Given the description of an element on the screen output the (x, y) to click on. 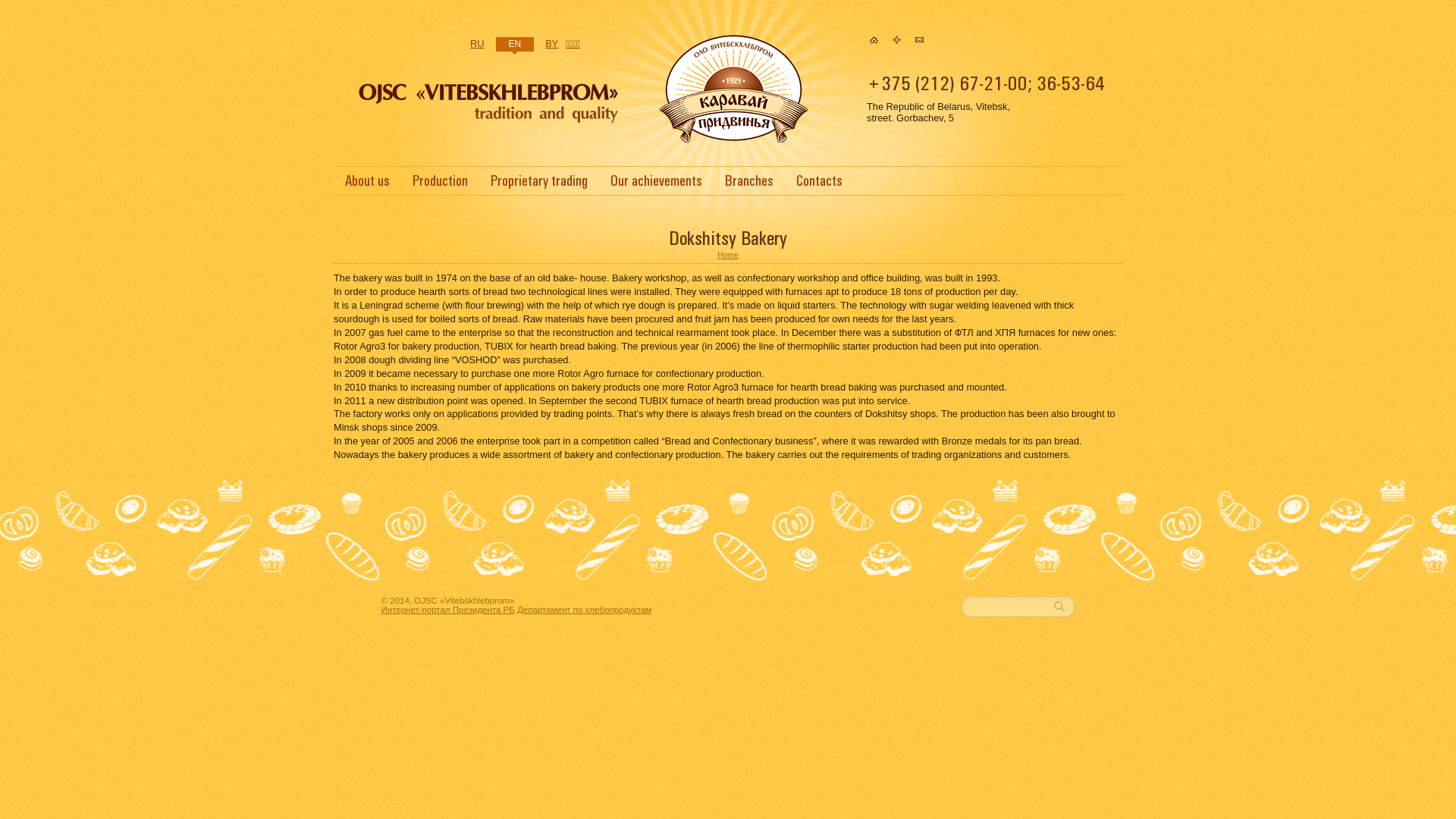
Sitemap Element type: text (896, 39)
Home Element type: hover (488, 125)
Branches Element type: text (748, 183)
RU Element type: text (476, 43)
Enter the terms you wish to search for. Element type: hover (1007, 606)
Home Element type: text (873, 39)
Proprietary trading Element type: text (539, 183)
Home Element type: hover (733, 138)
Production Element type: text (440, 183)
Search Element type: text (1063, 606)
Email Element type: text (919, 39)
LiveInternet Element type: hover (0, 487)
Contacts Element type: text (818, 183)
About us Element type: text (367, 183)
BY Element type: text (551, 43)
Our achievements Element type: text (656, 183)
EN Element type: text (514, 45)
Home Element type: text (727, 255)
